Given the description of an element on the screen output the (x, y) to click on. 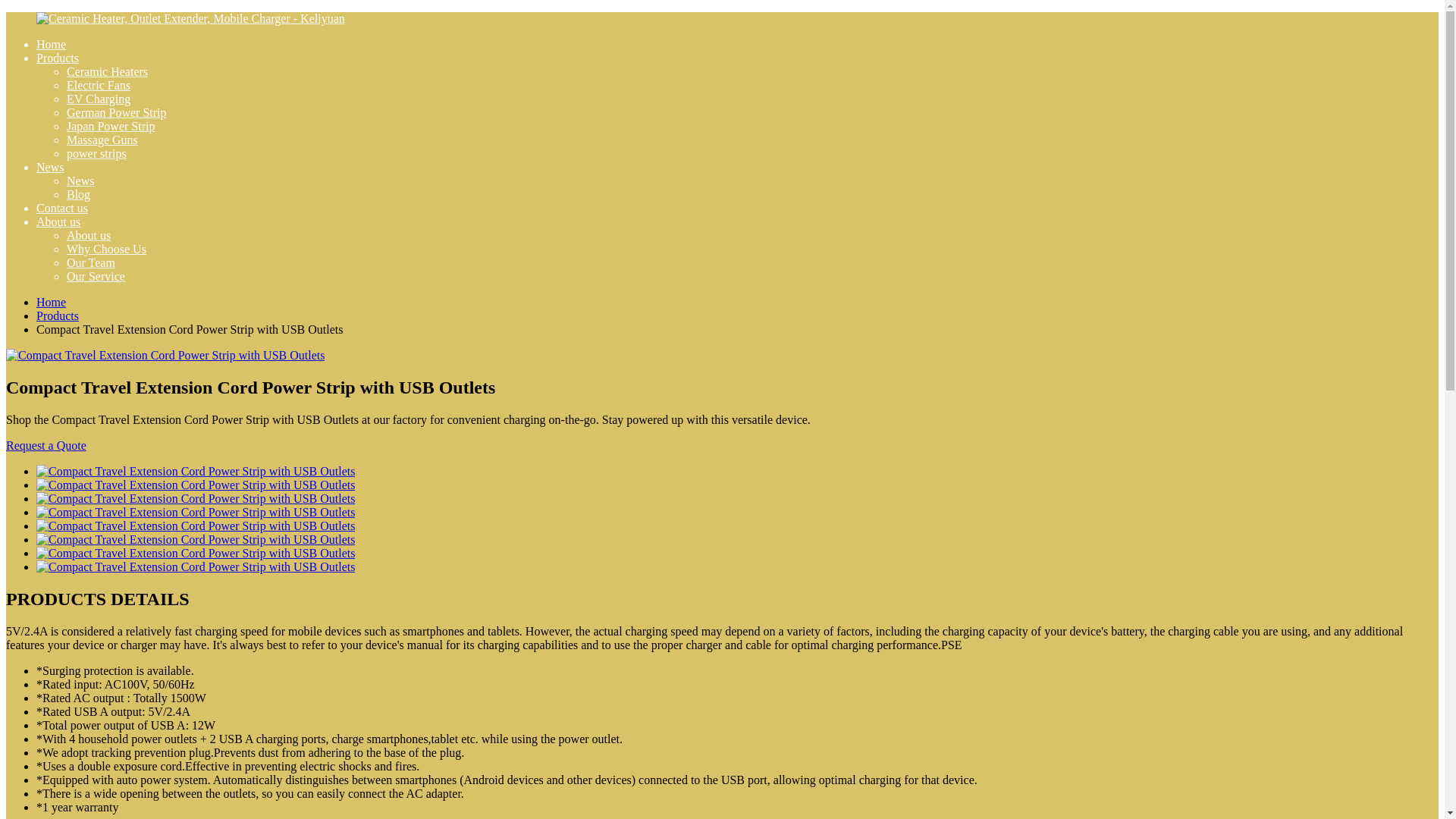
Home (50, 301)
power strips (96, 153)
Blog (78, 194)
Our Service (95, 276)
Contact us (61, 207)
Electric Fans (98, 84)
Request a Quote (45, 445)
Products (57, 315)
Massage Guns (102, 139)
Our Team (90, 262)
